Given the description of an element on the screen output the (x, y) to click on. 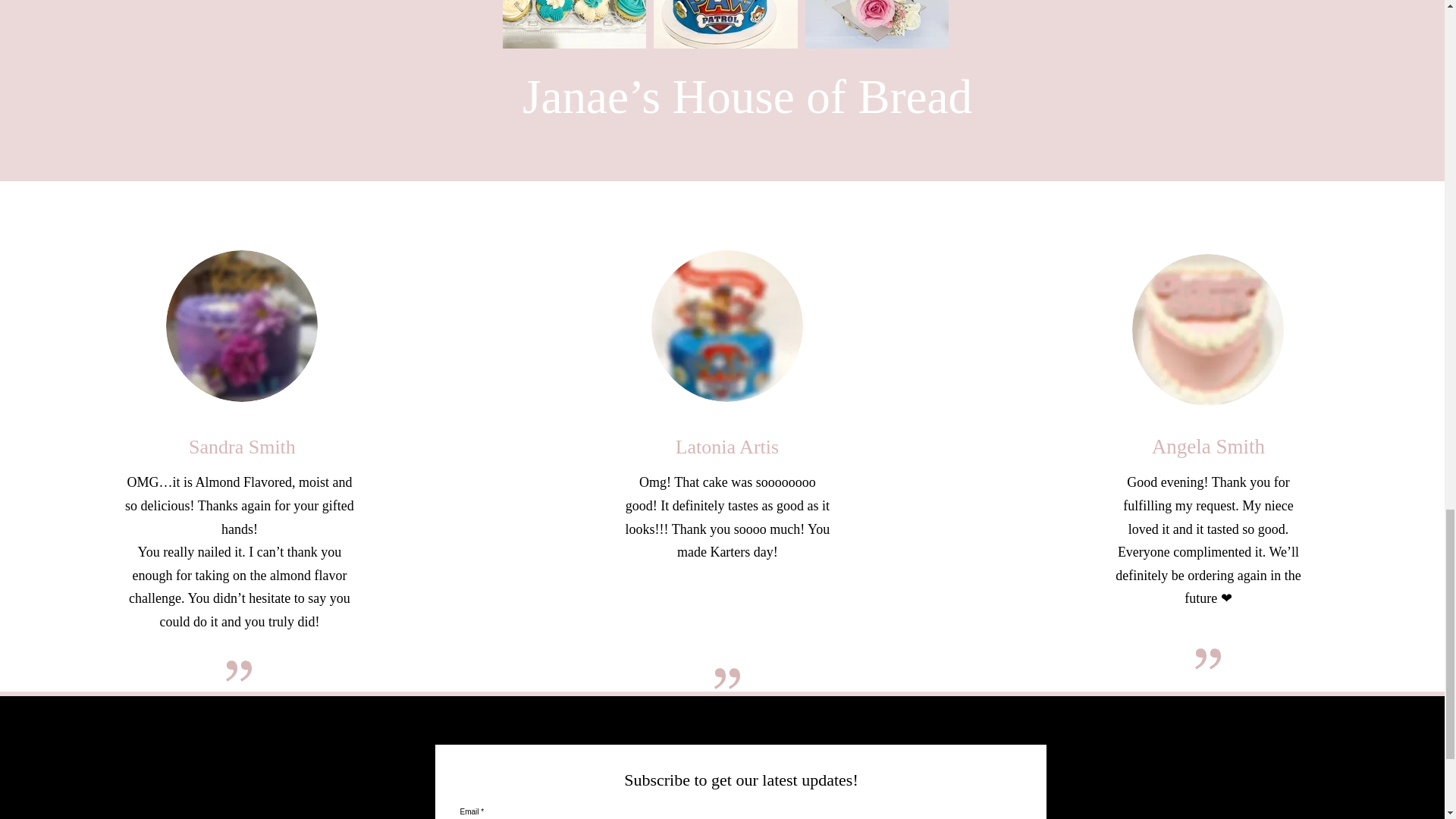
GettyImages-535587703.jpg (241, 326)
GettyImages-124893619.jpg (726, 326)
GettyImages-145680711.jpg (1208, 329)
